Given the description of an element on the screen output the (x, y) to click on. 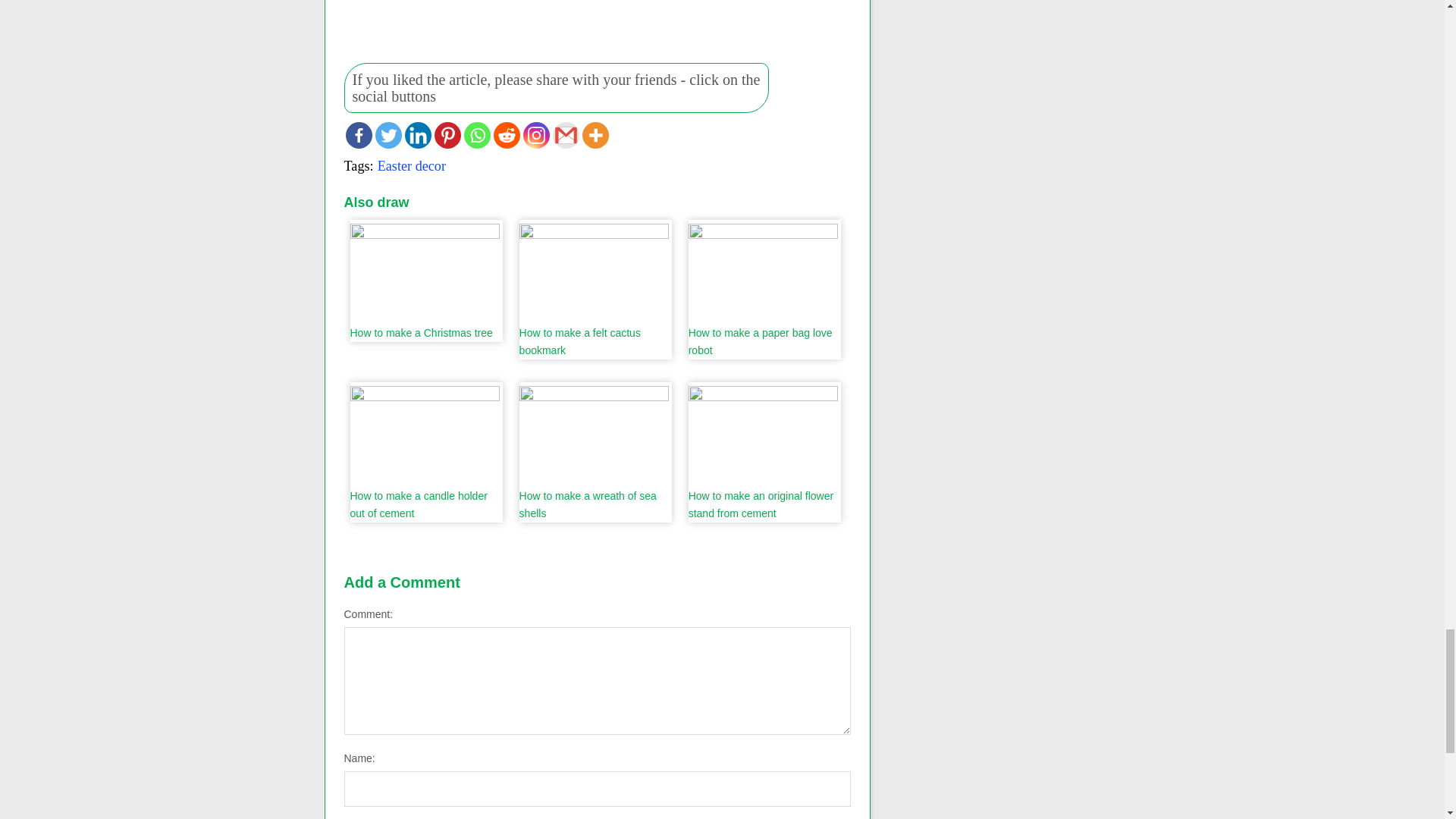
More (595, 135)
How to make a paper bag love robot (763, 289)
Reddit (506, 135)
Facebook (359, 135)
How to make a felt cactus bookmark (593, 289)
Google Gmail (564, 135)
How to make a Christmas tree (424, 281)
Instagram (536, 135)
Linkedin (417, 135)
How to make a felt cactus bookmark (593, 289)
